Given the description of an element on the screen output the (x, y) to click on. 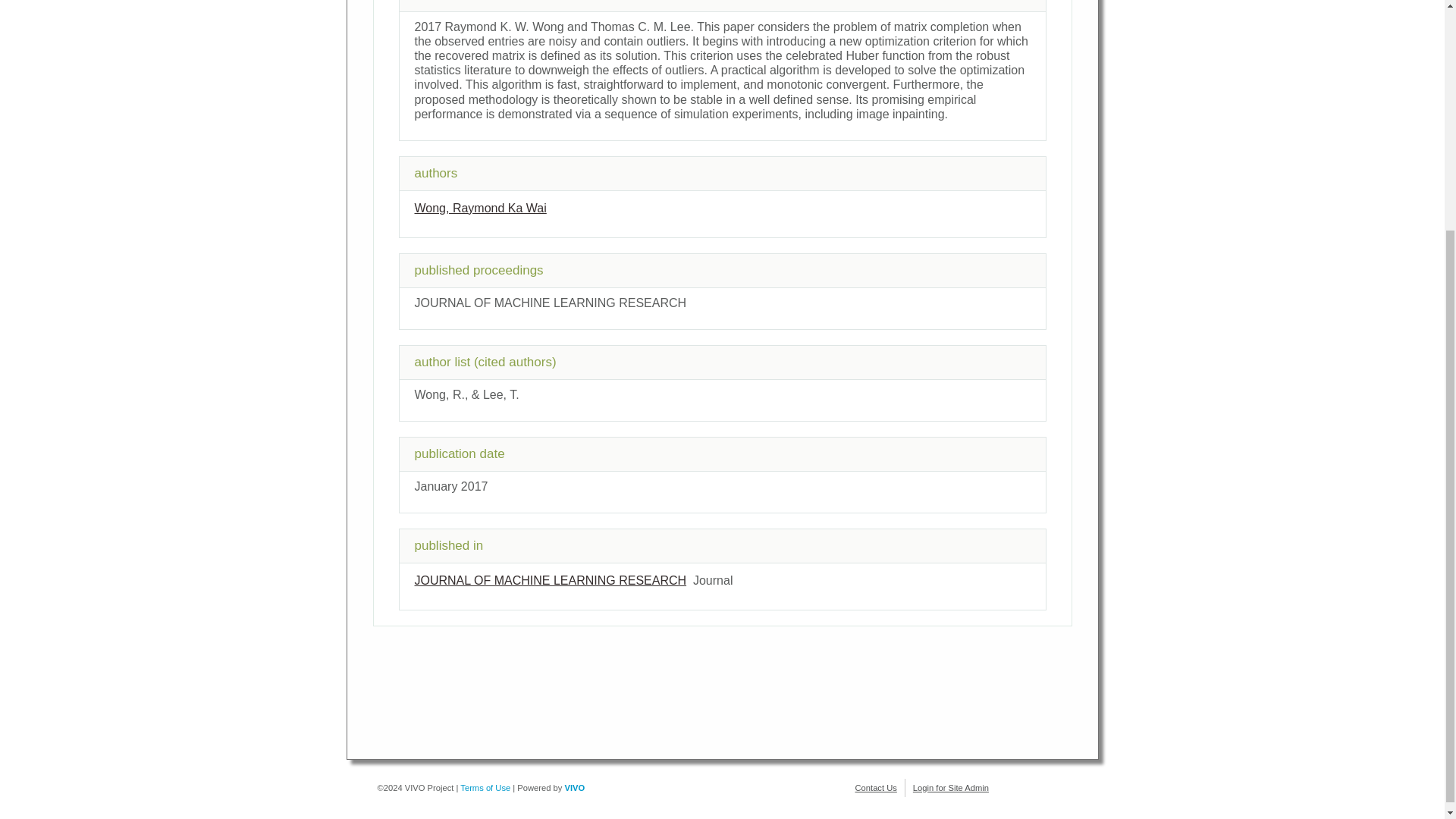
VIVO (574, 787)
Contact Us (876, 787)
JOURNAL OF MACHINE LEARNING RESEARCH (549, 580)
Wong, Raymond Ka Wai (479, 207)
author name (479, 207)
Terms of Use (485, 787)
name (549, 580)
Login for Site Admin (950, 787)
